Given the description of an element on the screen output the (x, y) to click on. 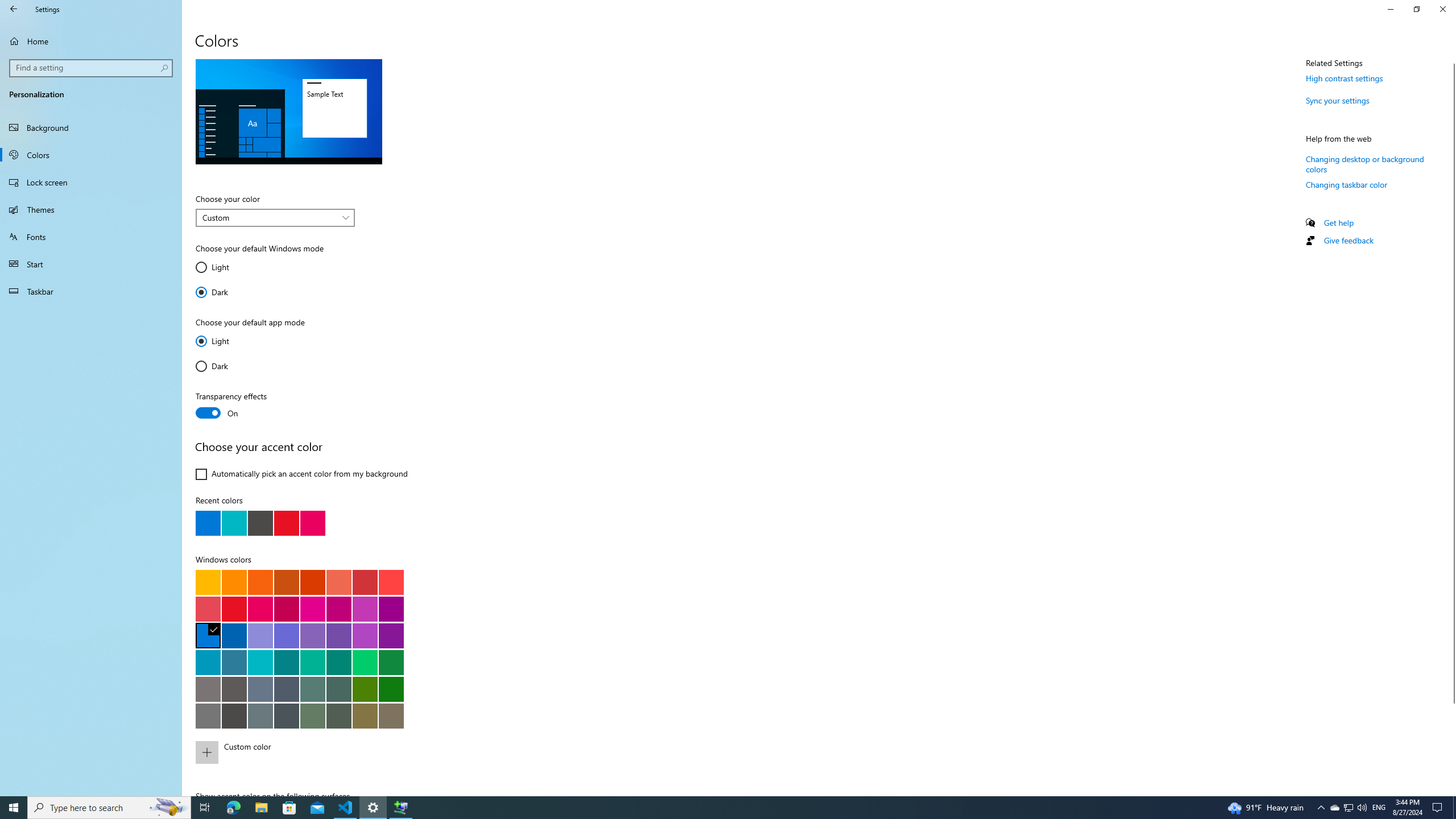
Automatically pick an accent color from my background (301, 474)
Plum light (311, 608)
Vertical (1451, 425)
Rose (285, 608)
Gold (234, 581)
Orange bright (260, 581)
Colors (91, 154)
Mint light (311, 661)
Iris Spring (338, 635)
Choose your color (275, 217)
Background (91, 126)
Pale rust (338, 581)
